Given the description of an element on the screen output the (x, y) to click on. 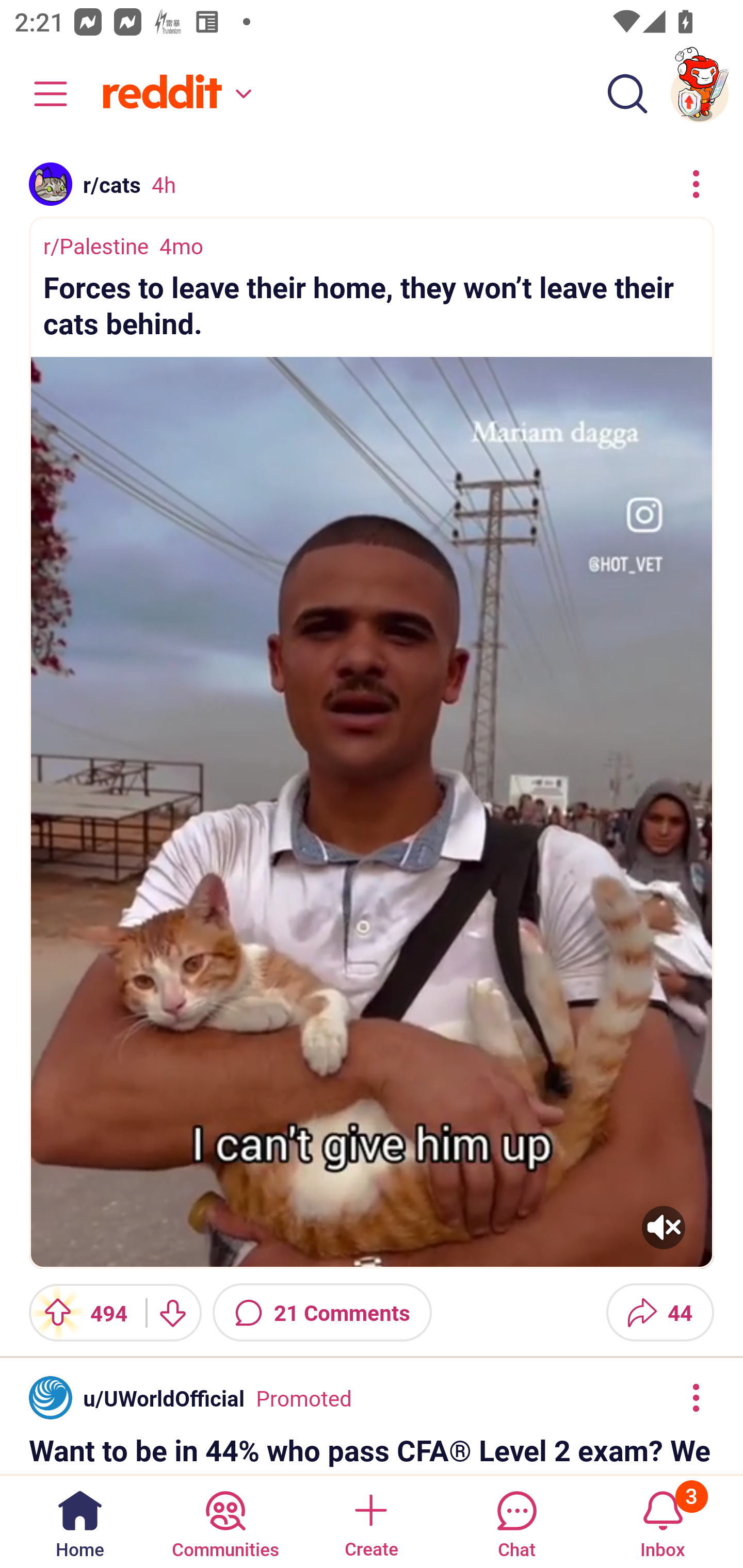
Search (626, 93)
TestAppium002 account (699, 93)
Community menu (41, 94)
Home feed (173, 94)
Home (80, 1520)
Communities (225, 1520)
Create a post Create (370, 1520)
Chat (516, 1520)
Inbox, has 3 notifications 3 Inbox (662, 1520)
